Given the description of an element on the screen output the (x, y) to click on. 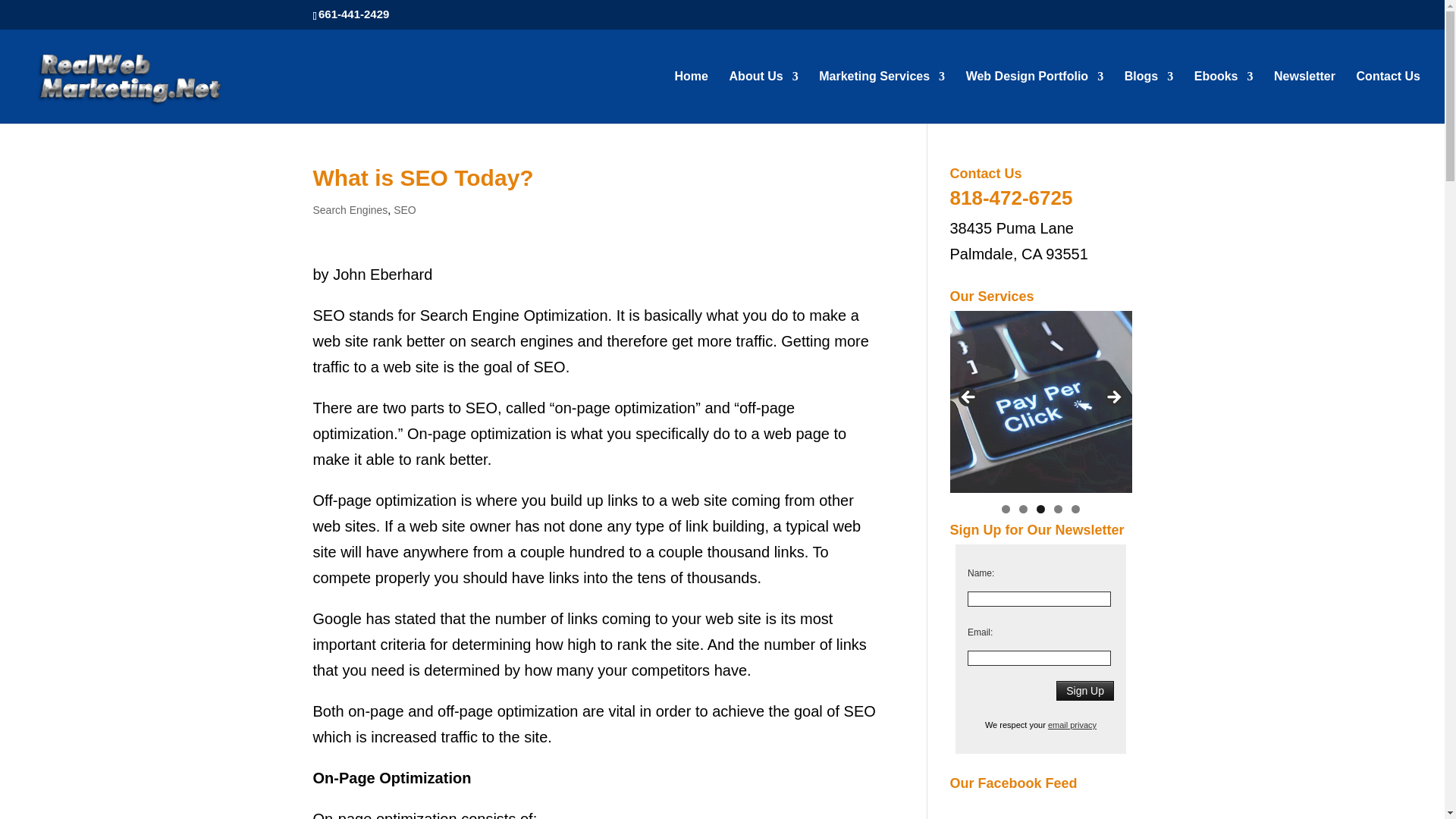
Sign Up (1085, 690)
Ebooks (1223, 97)
Marketing Services (881, 97)
Blogs (1148, 97)
Web Design Portfolio (1034, 97)
Home (691, 97)
About Us (763, 97)
